Given the description of an element on the screen output the (x, y) to click on. 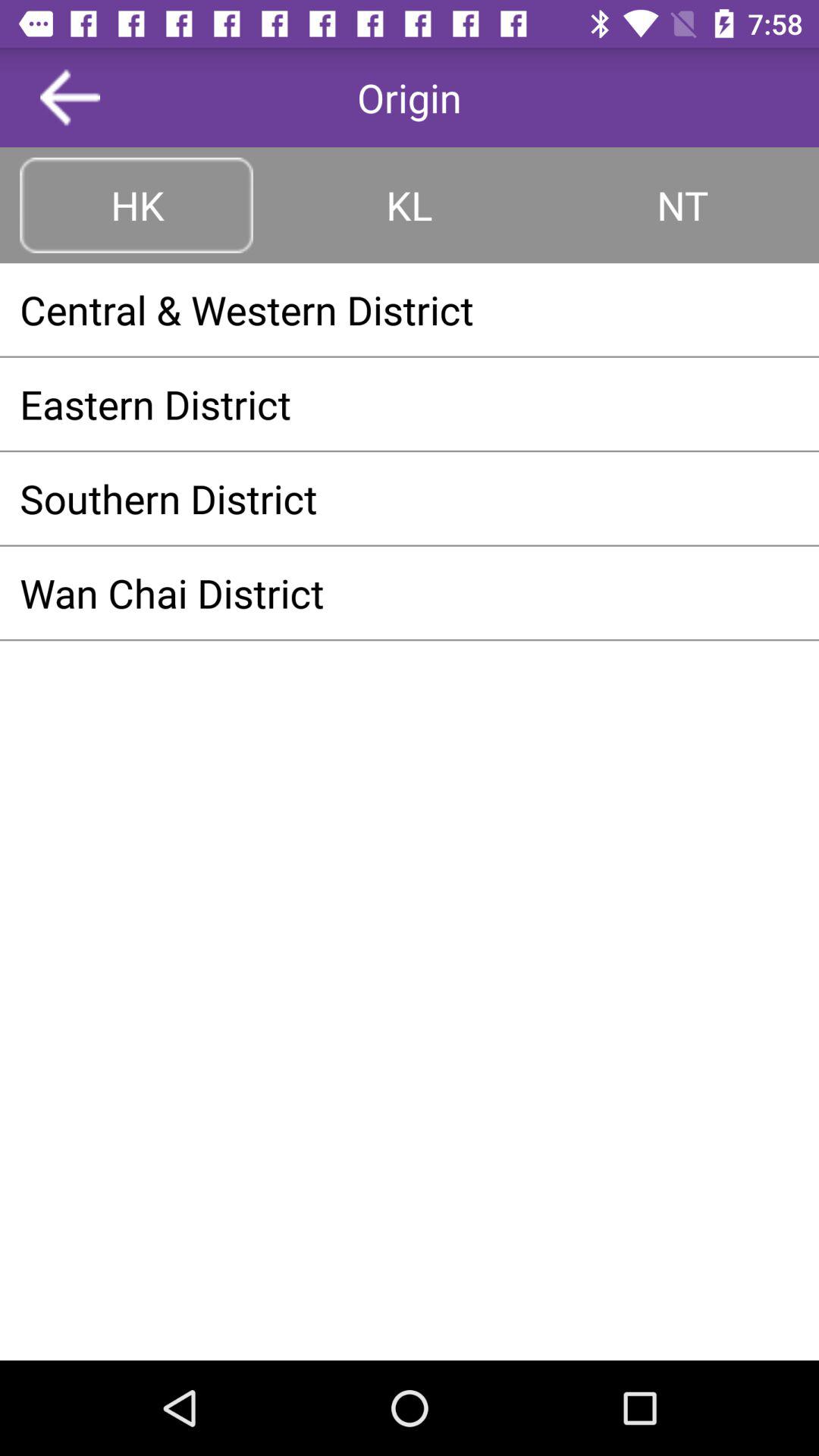
tap the hk button (136, 205)
